Given the description of an element on the screen output the (x, y) to click on. 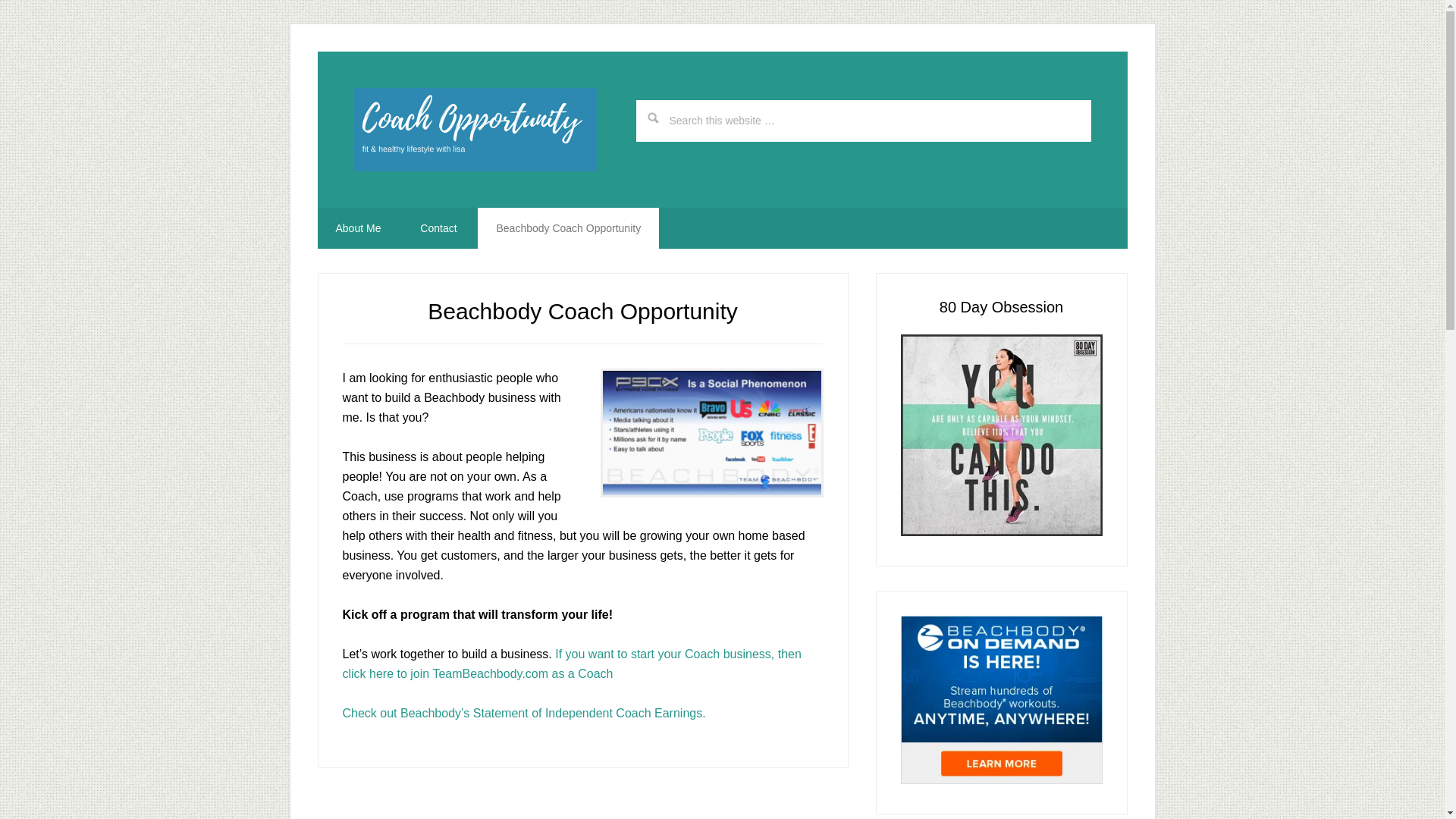
Beachbody Coaching (711, 432)
Contact (437, 228)
About Me (357, 228)
Join Teambeachbody coach (572, 663)
Beachbody Coach Opportunity (568, 228)
Beachbody Coach Opportunity (474, 129)
